Given the description of an element on the screen output the (x, y) to click on. 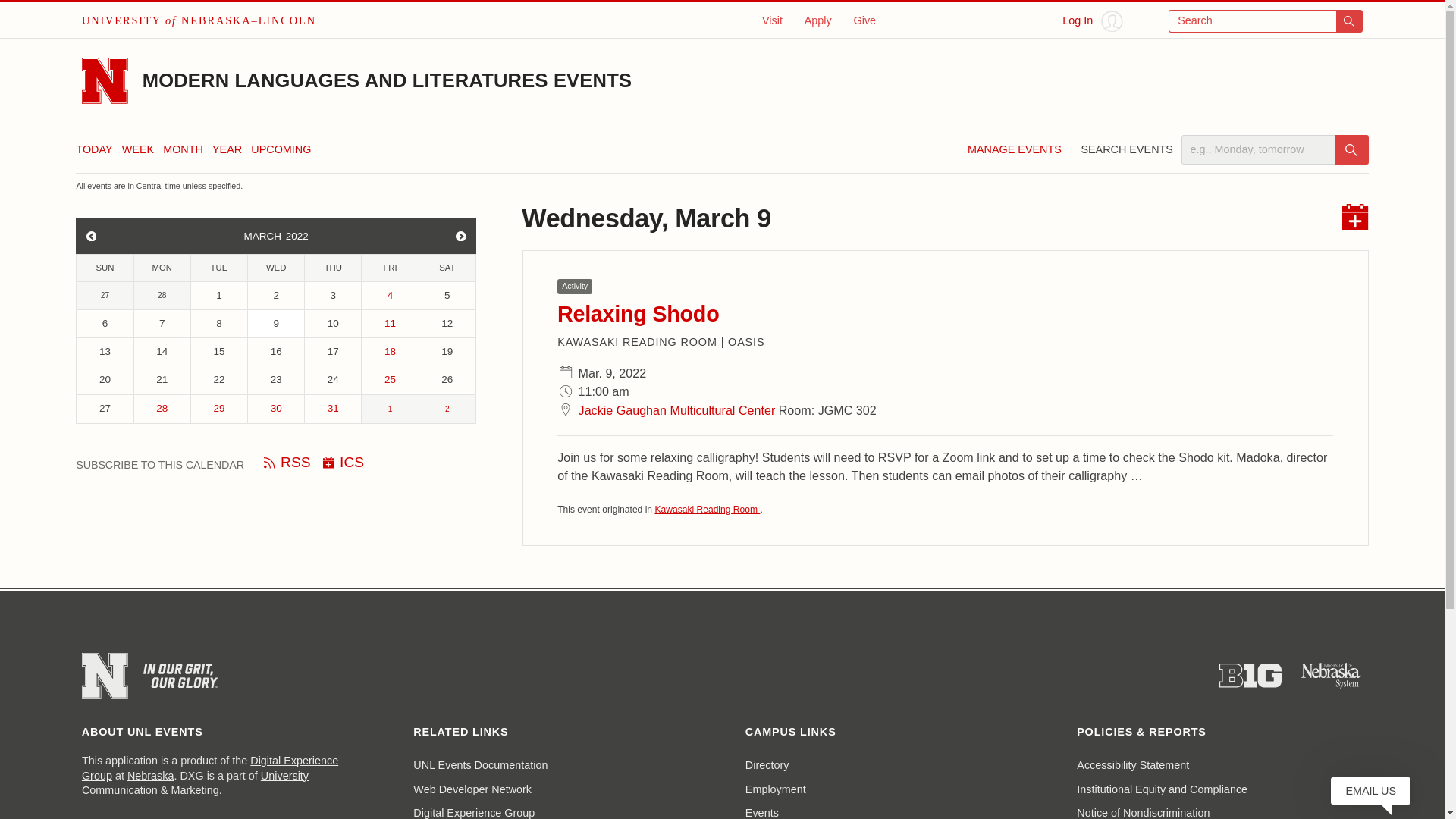
MONTH (183, 149)
UPCOMING (280, 149)
MODERN LANGUAGES AND LITERATURES EVENTS (386, 79)
18 (389, 351)
TODAY (93, 149)
Thursday (332, 267)
MANAGE EVENTS (1014, 153)
31 (332, 408)
Saturday (447, 267)
9 (275, 323)
Search (1351, 150)
Tuesday (218, 267)
Skip to main content (19, 16)
MARCH (258, 235)
